Given the description of an element on the screen output the (x, y) to click on. 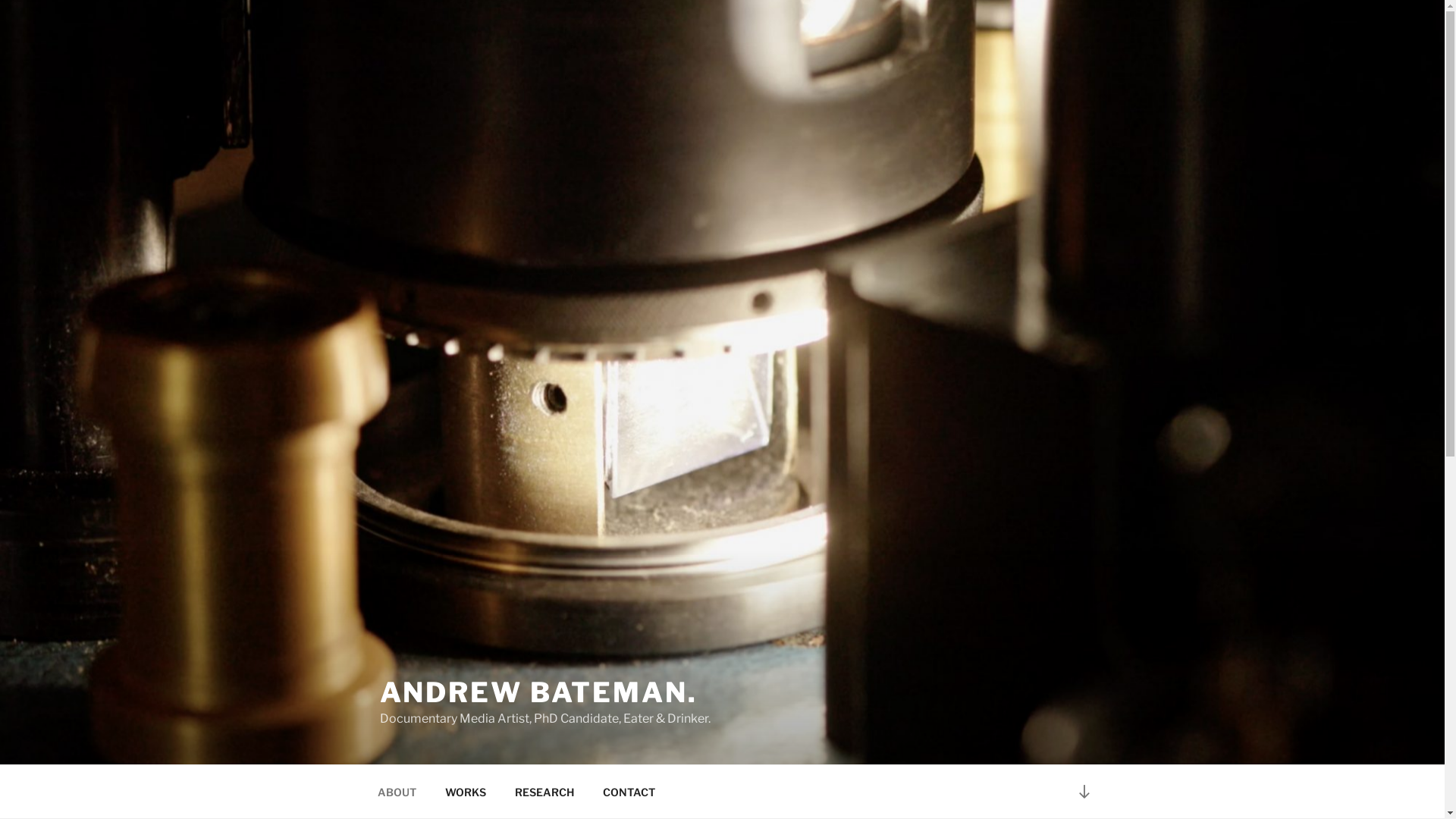
CONTACT Element type: text (628, 791)
RESEARCH Element type: text (544, 791)
WORKS Element type: text (465, 791)
ANDREW BATEMAN. Element type: text (537, 692)
ABOUT Element type: text (396, 791)
